Given the description of an element on the screen output the (x, y) to click on. 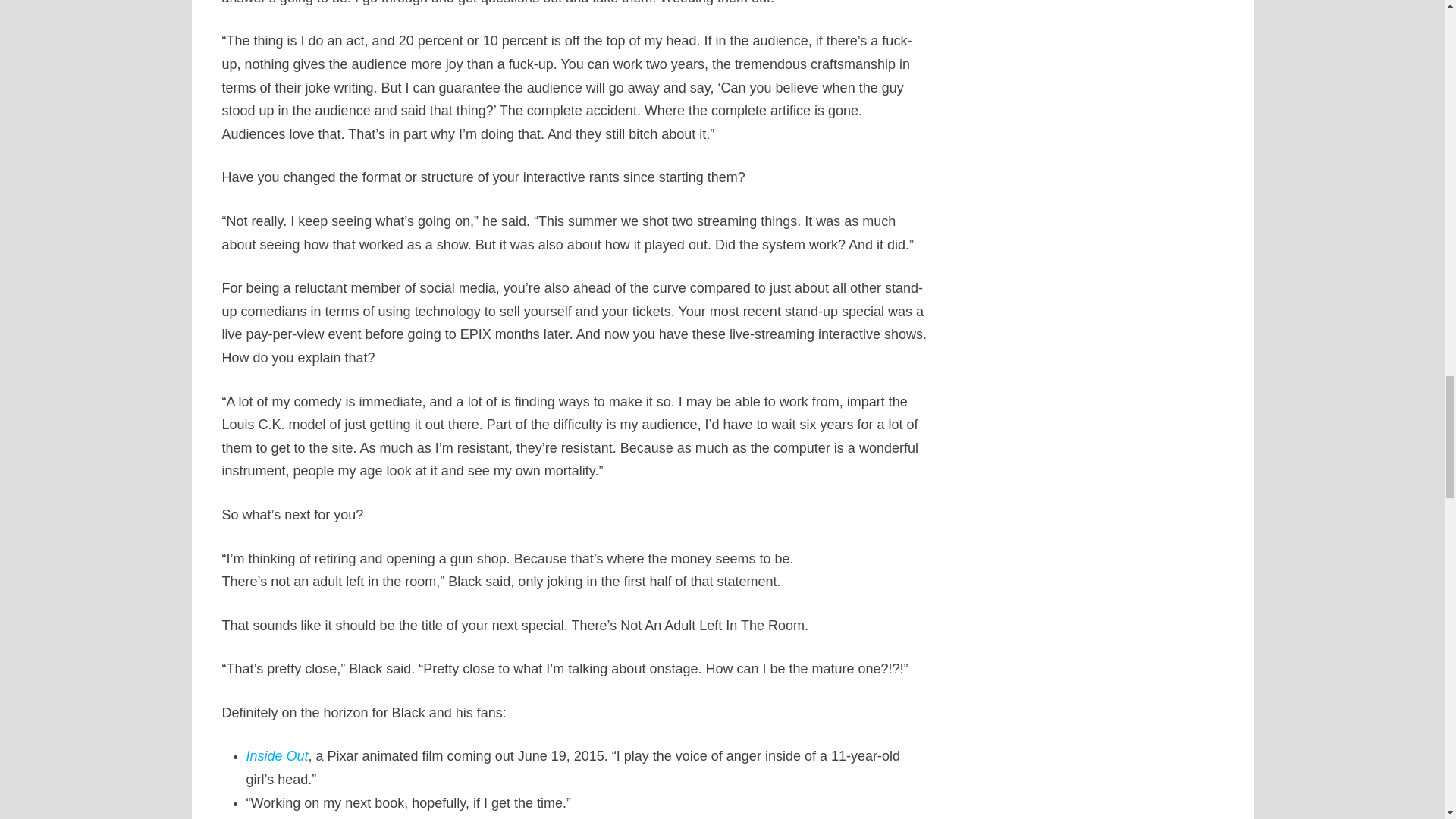
Inside Out (276, 755)
